Given the description of an element on the screen output the (x, y) to click on. 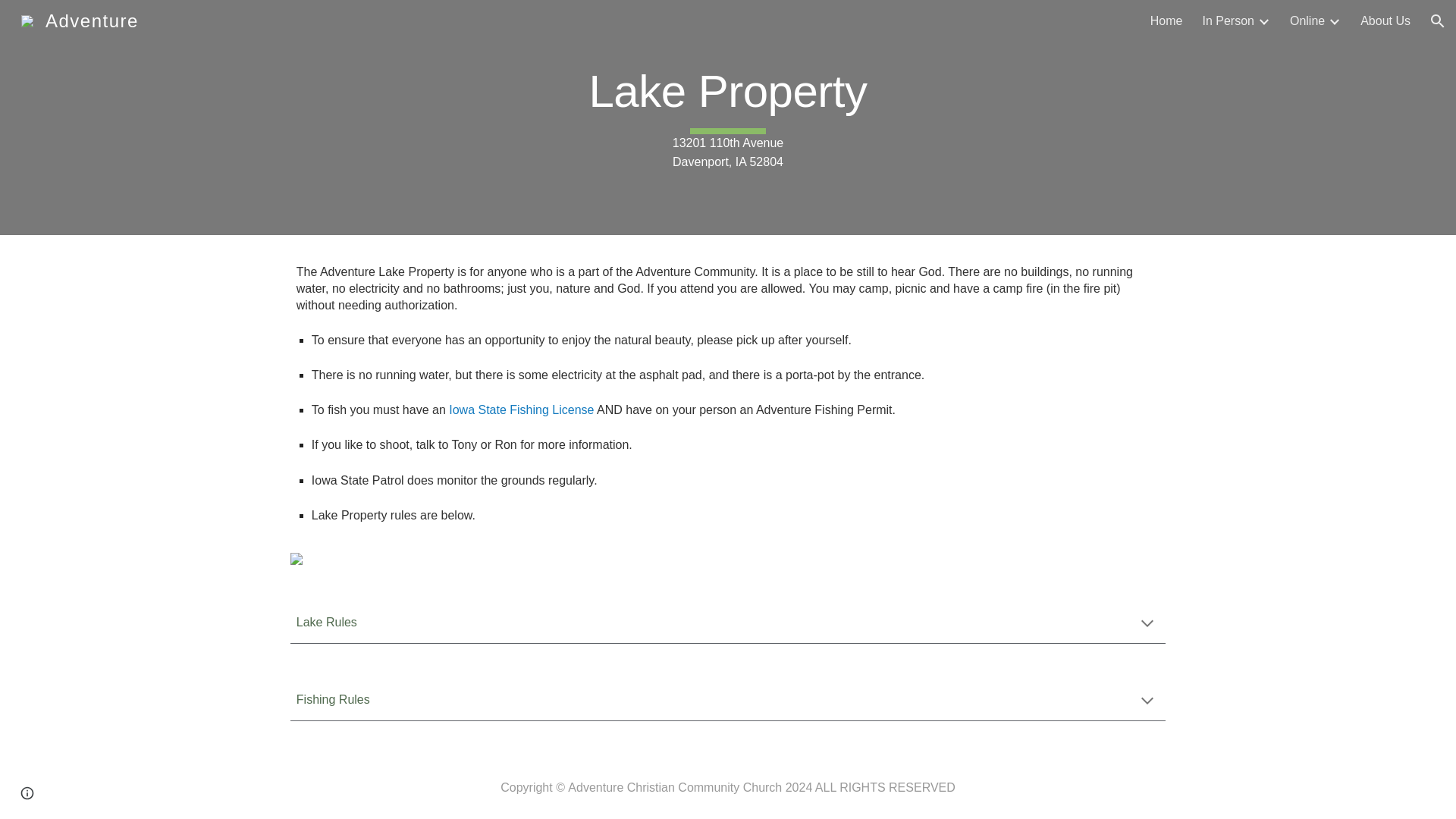
About Us (1384, 20)
Online (1307, 20)
In Person (1227, 20)
Home (1166, 20)
Adventure (79, 19)
